Given the description of an element on the screen output the (x, y) to click on. 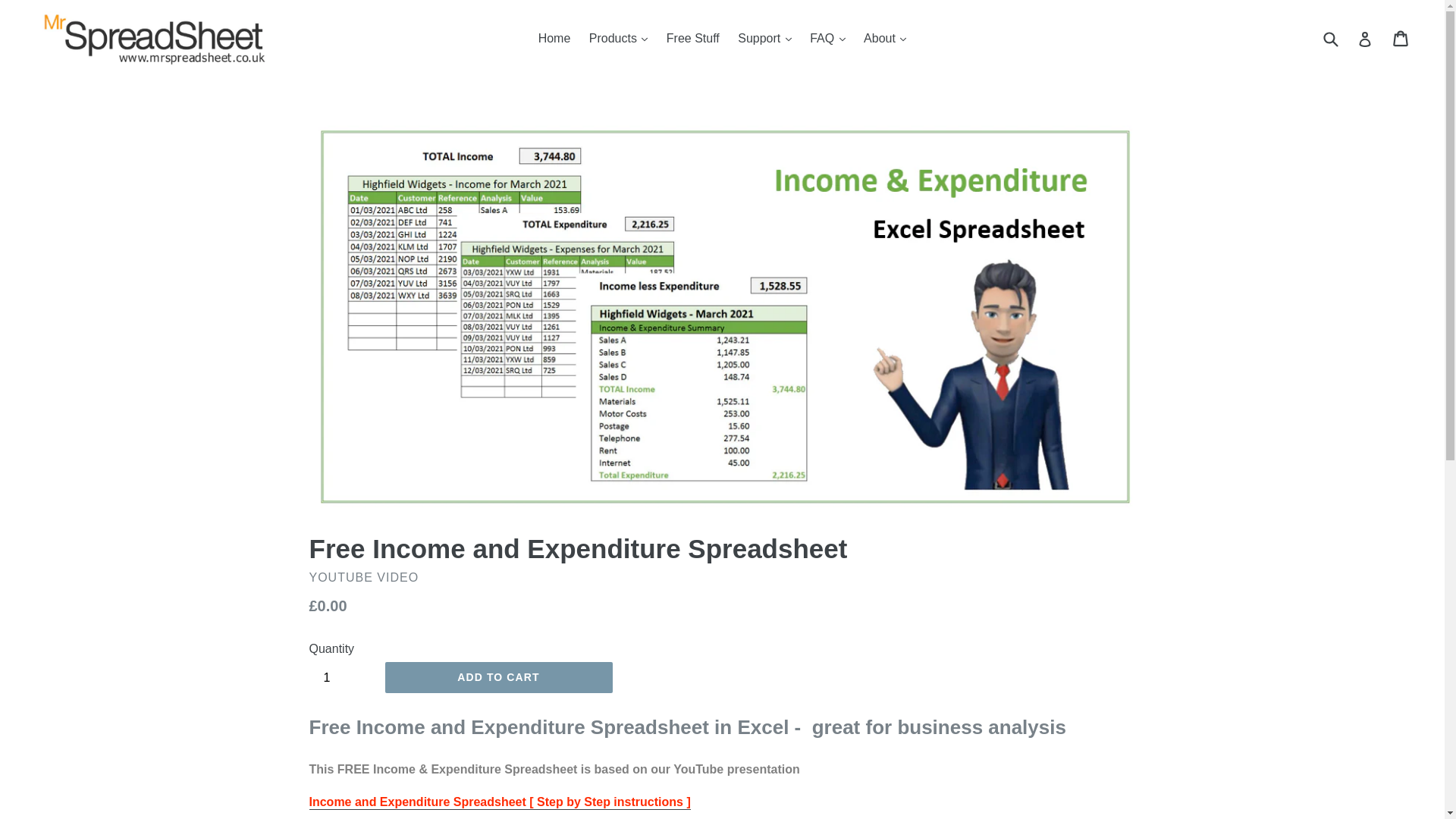
Free Income and Expenditure Spreadsheet (499, 802)
1 (342, 676)
